Given the description of an element on the screen output the (x, y) to click on. 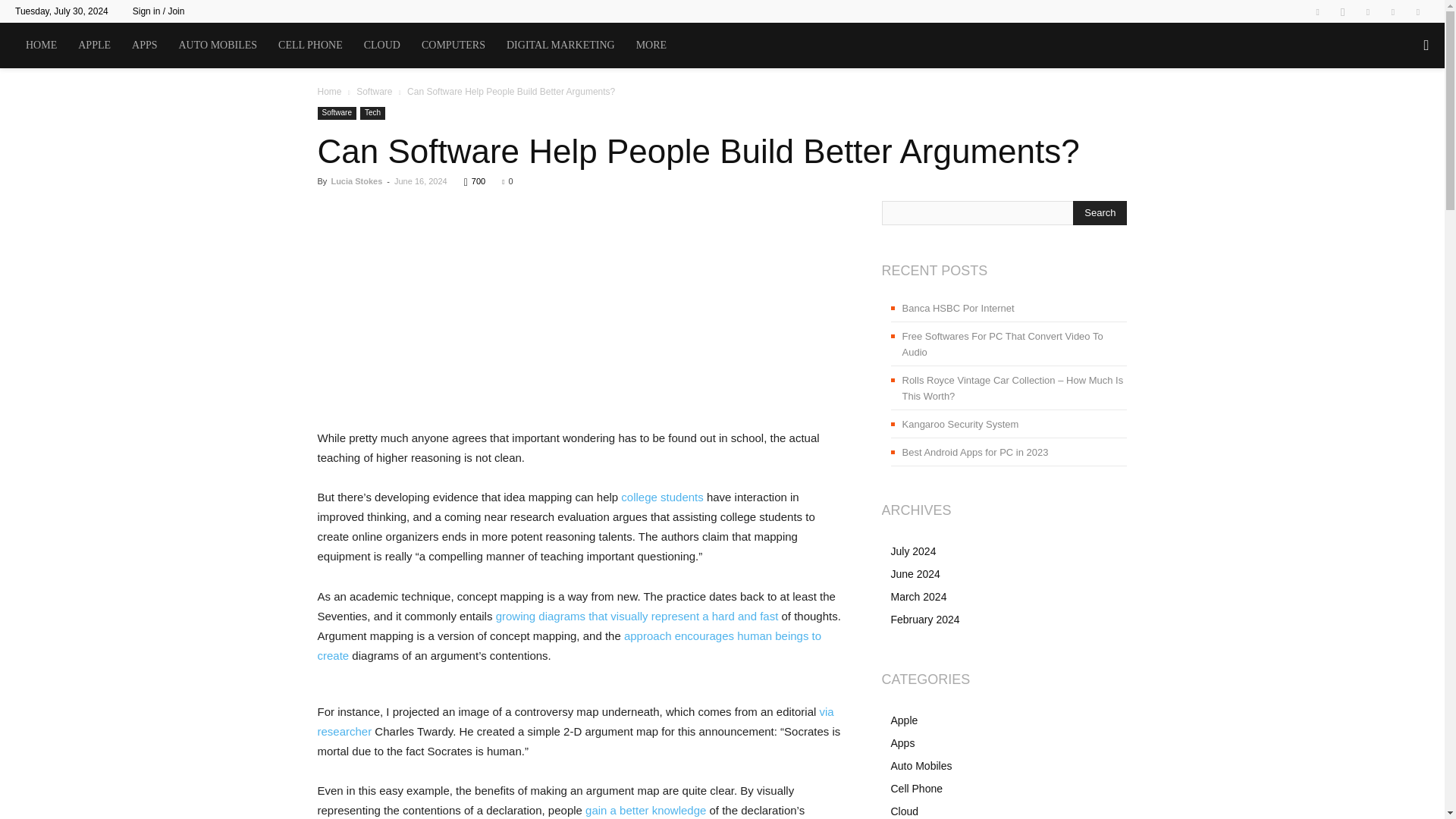
Twitter (1367, 11)
Youtube (1417, 11)
APPLE (93, 44)
Search (1099, 212)
Vimeo (1393, 11)
Instagram (1343, 11)
Facebook (1317, 11)
HOME (40, 44)
